Given the description of an element on the screen output the (x, y) to click on. 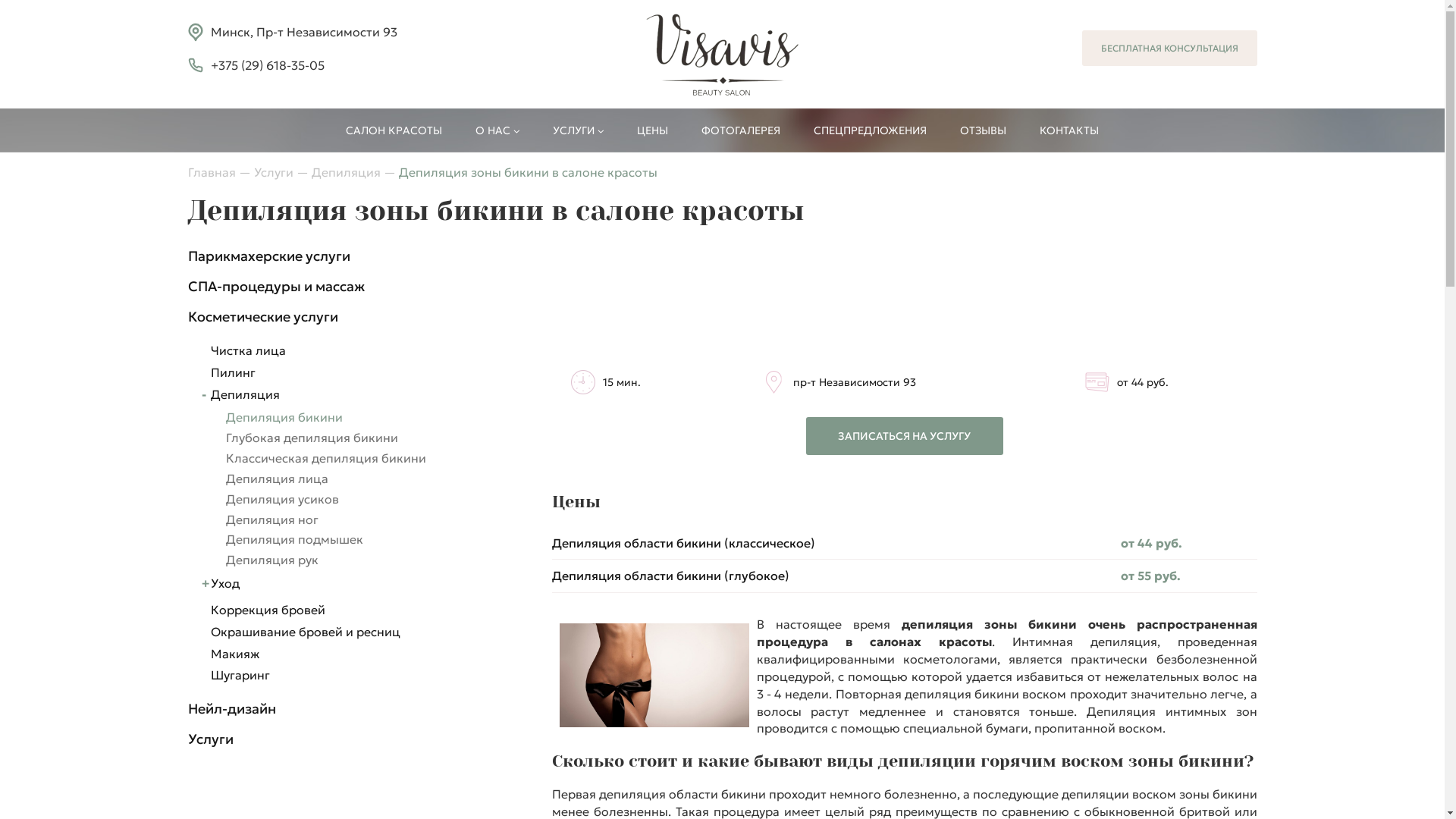
+375 (29) 618-35-05 Element type: text (267, 65)
